Given the description of an element on the screen output the (x, y) to click on. 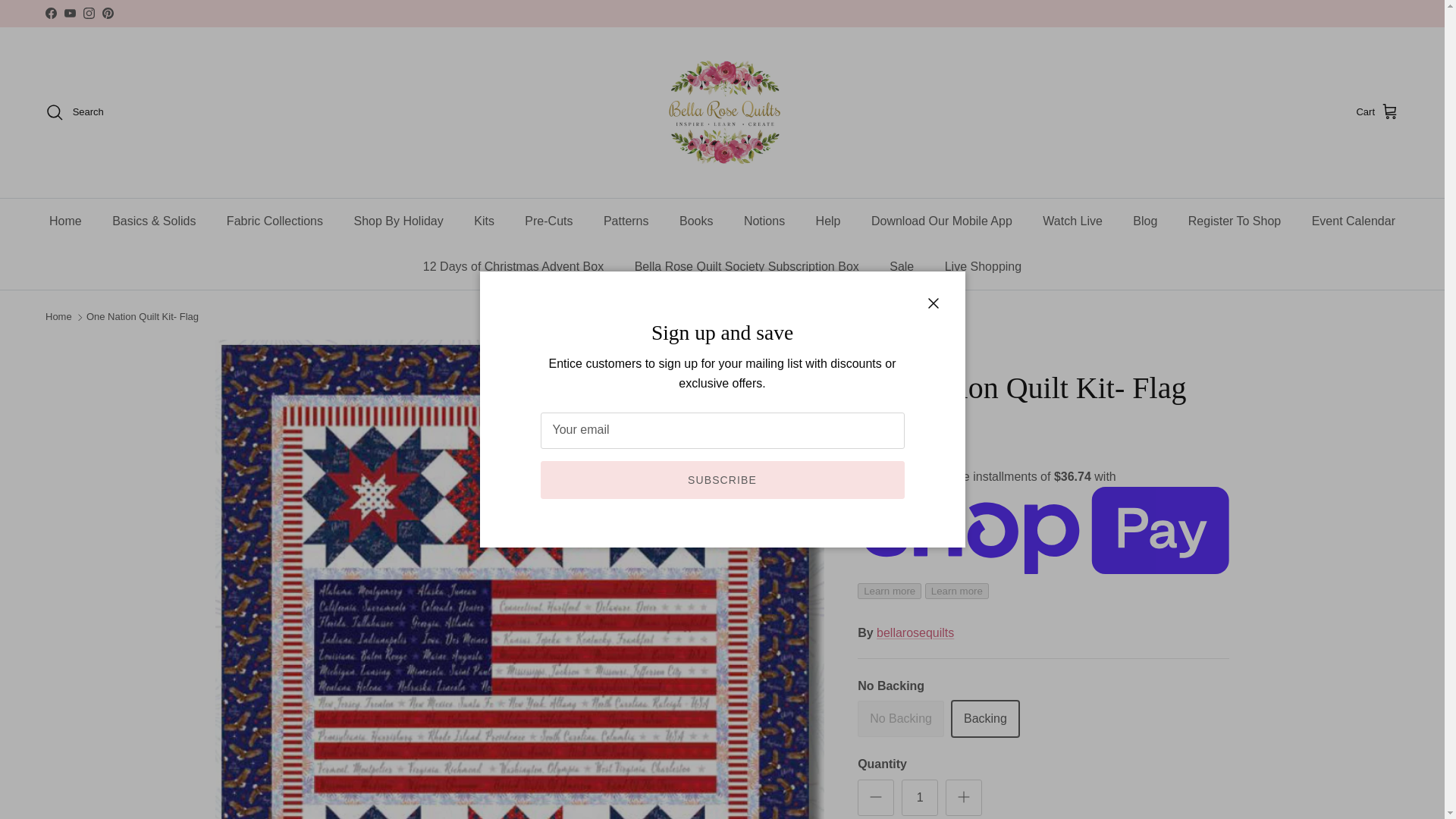
Search (74, 112)
YouTube (69, 12)
Facebook (50, 12)
bellarosequilts on Facebook (50, 12)
bellarosequilts on Pinterest (107, 12)
Cart (1377, 112)
Fabric Collections (274, 221)
bellarosequilts on YouTube (69, 12)
Pinterest (107, 12)
Instagram (88, 12)
1 (919, 797)
Sold out (900, 719)
bellarosequilts on Instagram (88, 12)
bellarosequilts (722, 112)
Home (65, 221)
